Given the description of an element on the screen output the (x, y) to click on. 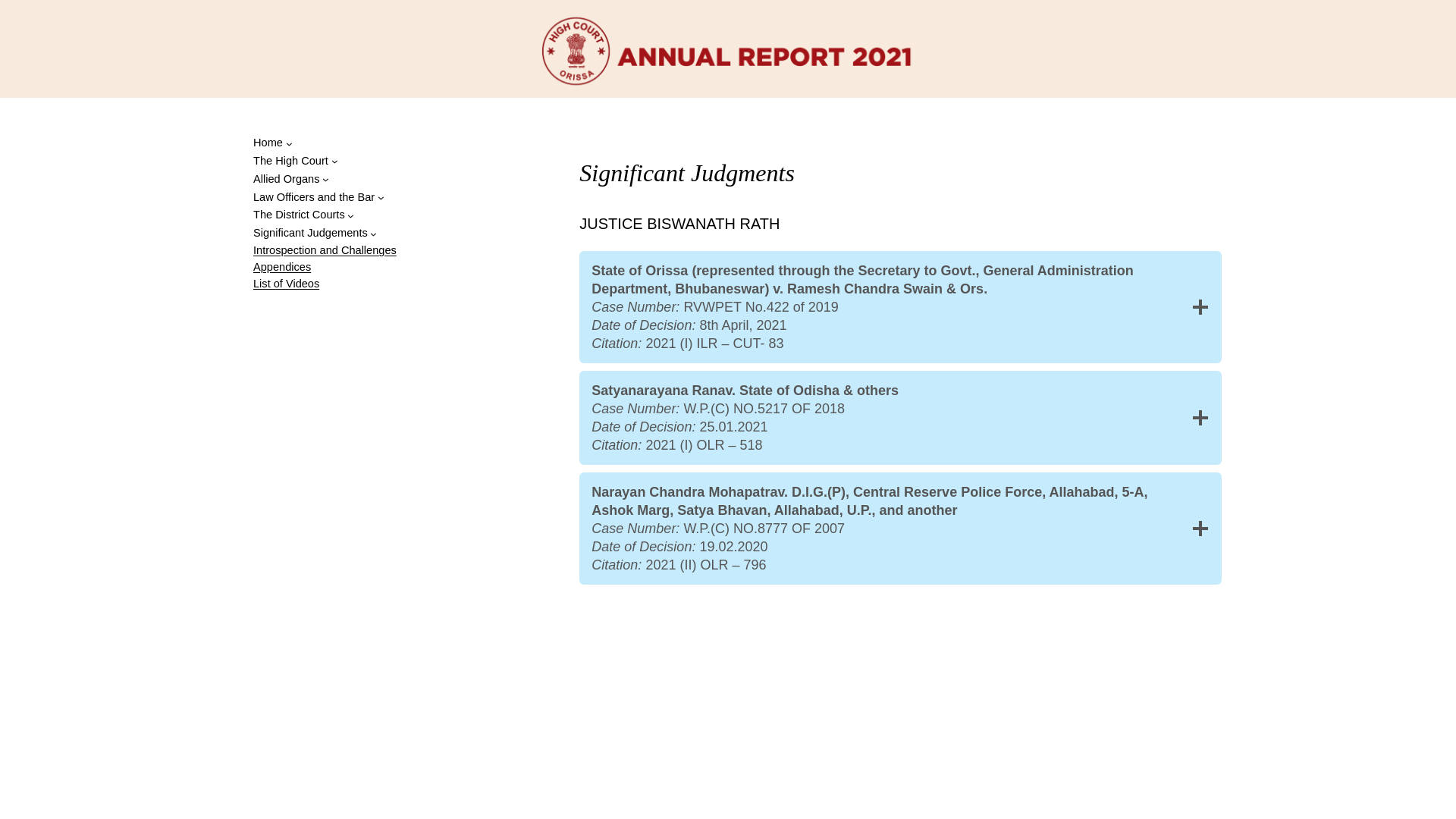
Home (272, 143)
Allied Organs (291, 179)
The District Courts (303, 215)
The High Court (295, 161)
Law Officers and the Bar (318, 198)
